Given the description of an element on the screen output the (x, y) to click on. 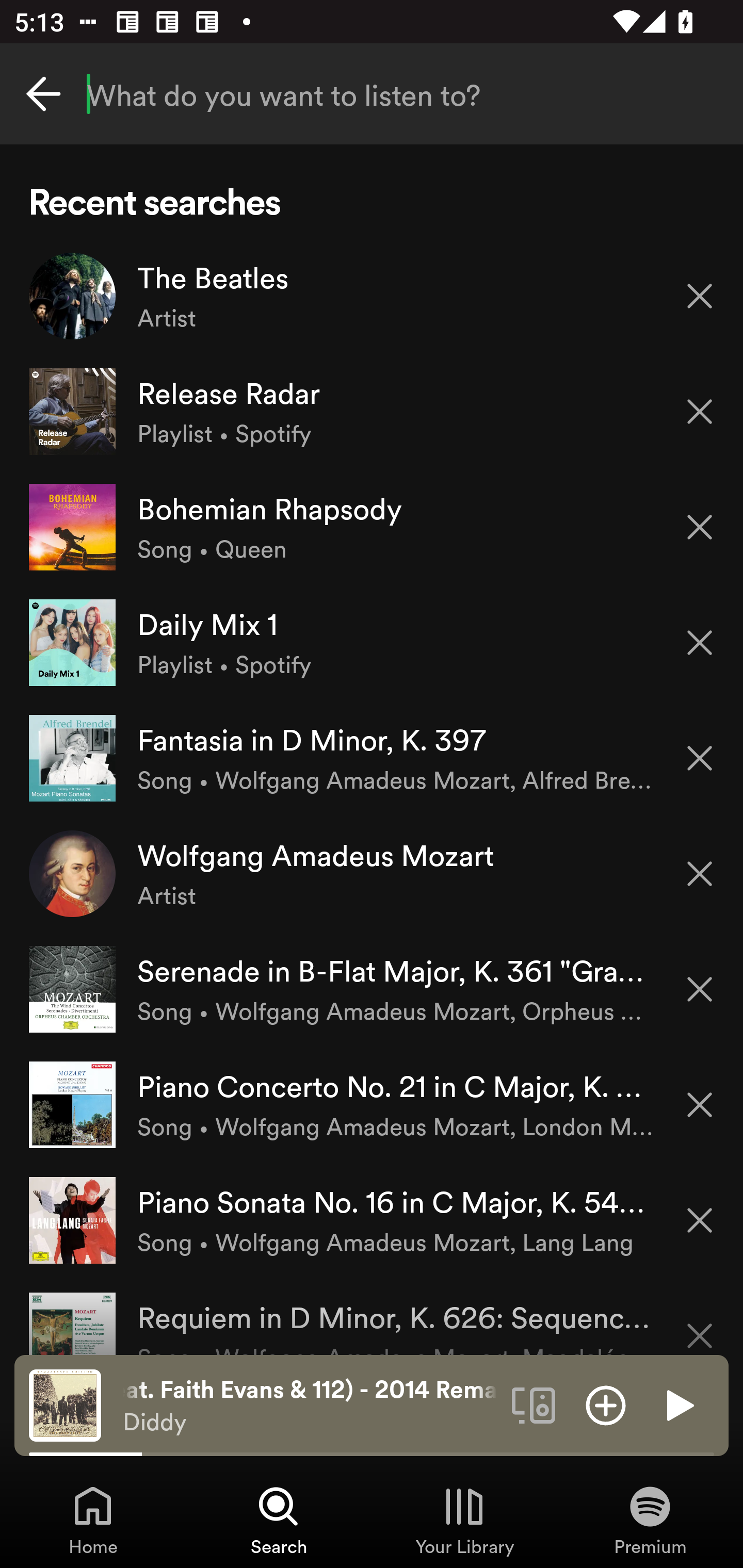
What do you want to listen to? (371, 93)
Cancel (43, 93)
The Beatles Artist Remove (371, 296)
Remove (699, 295)
Release Radar Playlist • Spotify Remove (371, 411)
Remove (699, 411)
Bohemian Rhapsody Song • Queen Remove (371, 526)
Remove (699, 527)
Daily Mix 1 Playlist • Spotify Remove (371, 642)
Remove (699, 642)
Remove (699, 758)
Wolfgang Amadeus Mozart Artist Remove (371, 873)
Remove (699, 874)
Remove (699, 989)
Remove (699, 1104)
Remove (699, 1220)
Remove (699, 1323)
The cover art of the currently playing track (64, 1404)
Connect to a device. Opens the devices menu (533, 1404)
Add item (605, 1404)
Play (677, 1404)
Home, Tab 1 of 4 Home Home (92, 1519)
Search, Tab 2 of 4 Search Search (278, 1519)
Your Library, Tab 3 of 4 Your Library Your Library (464, 1519)
Premium, Tab 4 of 4 Premium Premium (650, 1519)
